Given the description of an element on the screen output the (x, y) to click on. 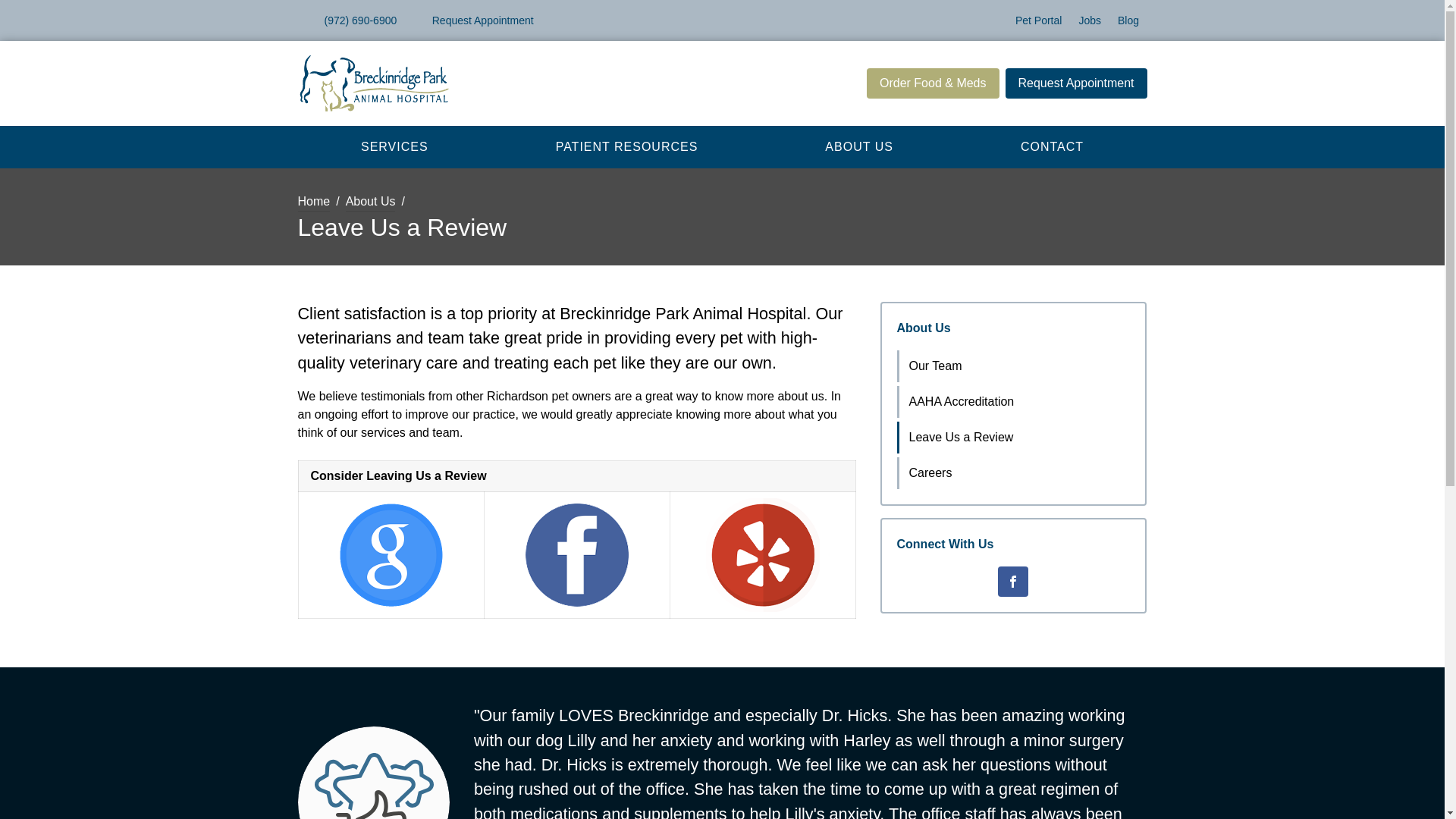
AAHA Accreditation (1015, 401)
Blog (1128, 20)
ABOUT US (858, 146)
About Us (371, 201)
SERVICES (394, 146)
Our Team (1015, 366)
Careers (1015, 472)
PATIENT RESOURCES (626, 146)
About Us (923, 327)
Pet Portal (1037, 20)
